Given the description of an element on the screen output the (x, y) to click on. 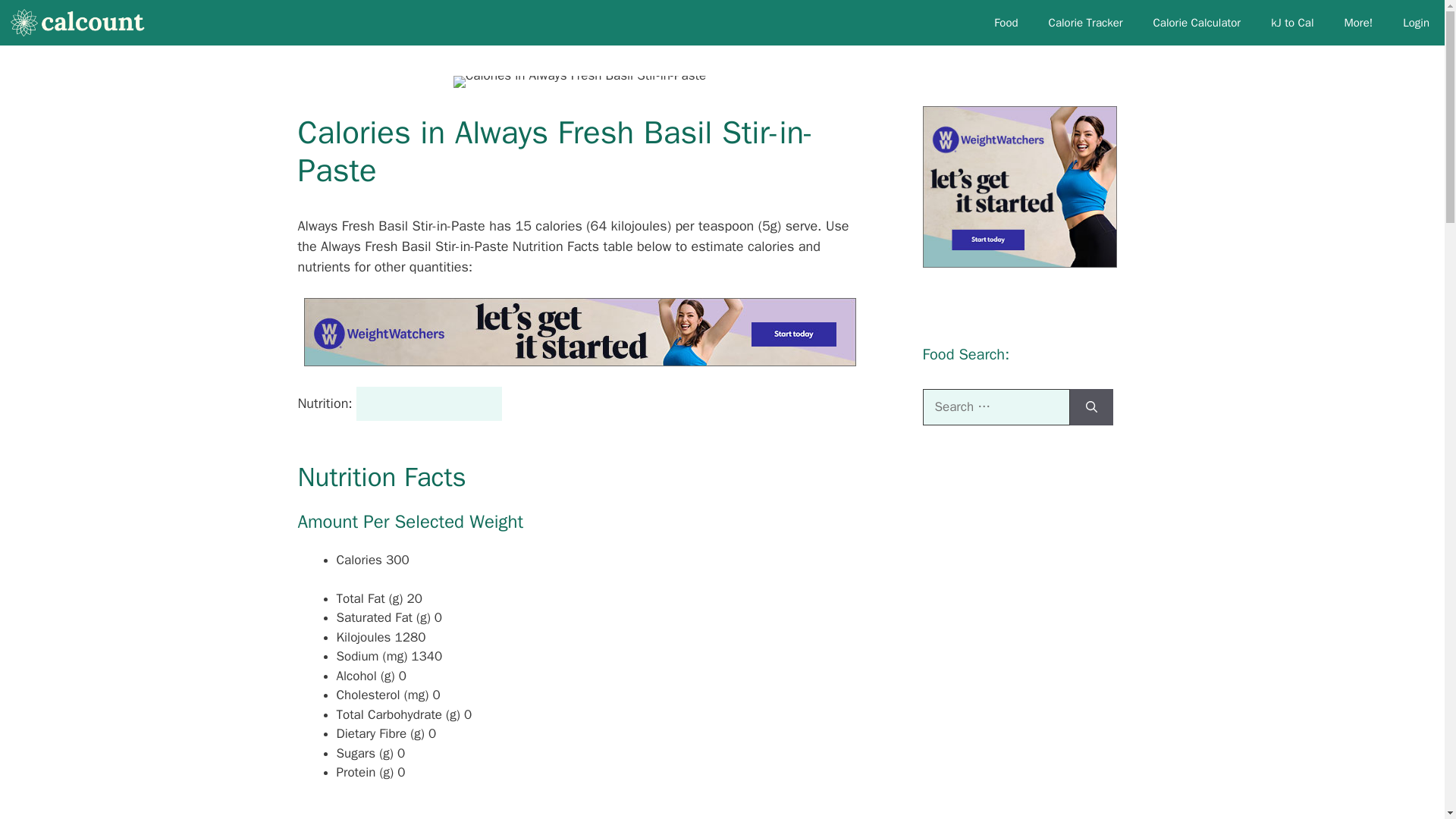
Calorie Calculator (1197, 22)
Search for: (994, 407)
Calorie Tracker (1085, 22)
calcount (82, 22)
Calories in Always Fresh Basil Stir-in-Paste (579, 81)
kJ to Cal (1291, 22)
Food (1005, 22)
More! (1357, 22)
